Given the description of an element on the screen output the (x, y) to click on. 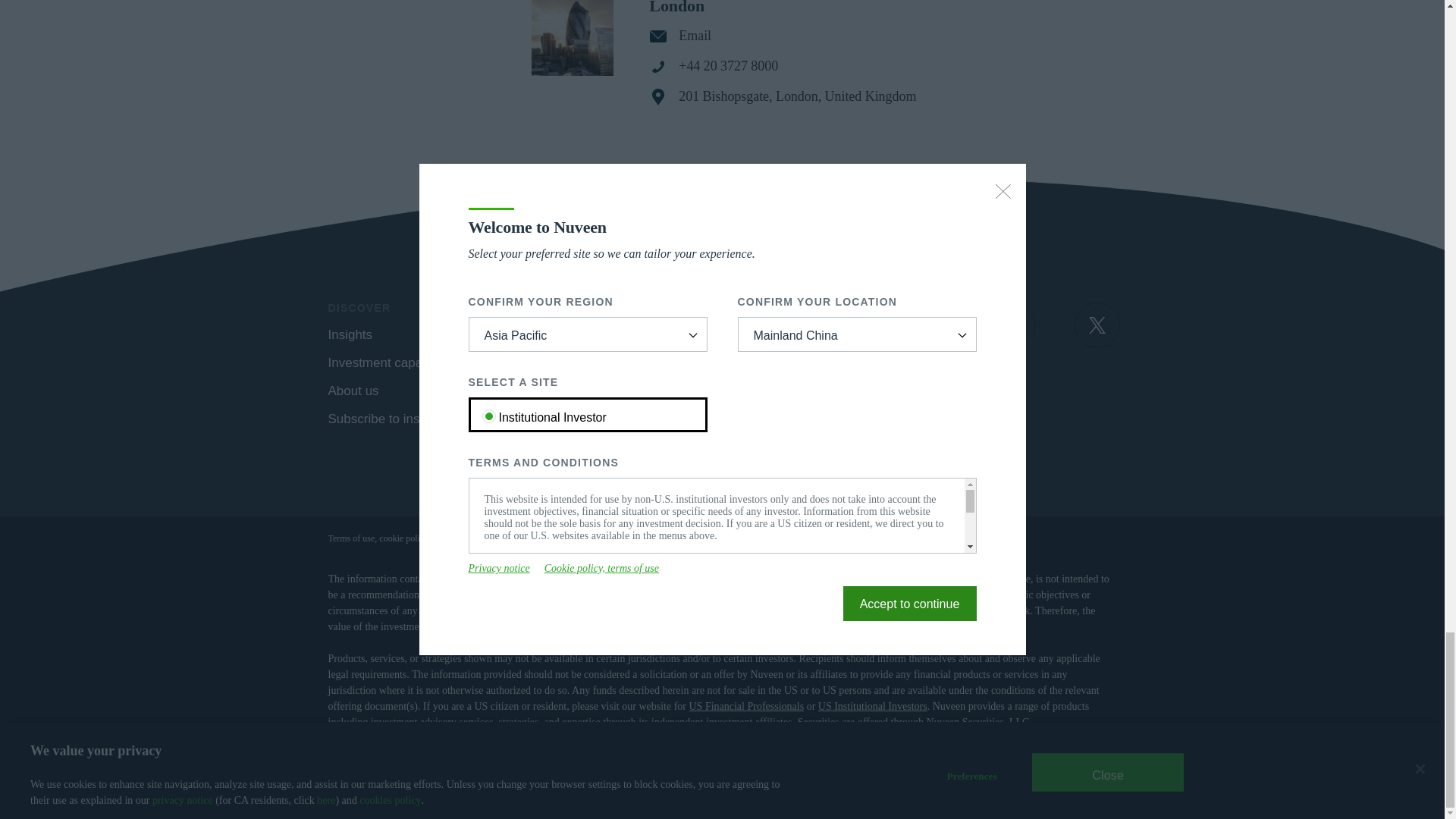
opens in a new window (845, 325)
opens in a new window (928, 325)
opens in a new window (508, 390)
opens in a new window (1097, 325)
opens in a new window (1013, 325)
